Given the description of an element on the screen output the (x, y) to click on. 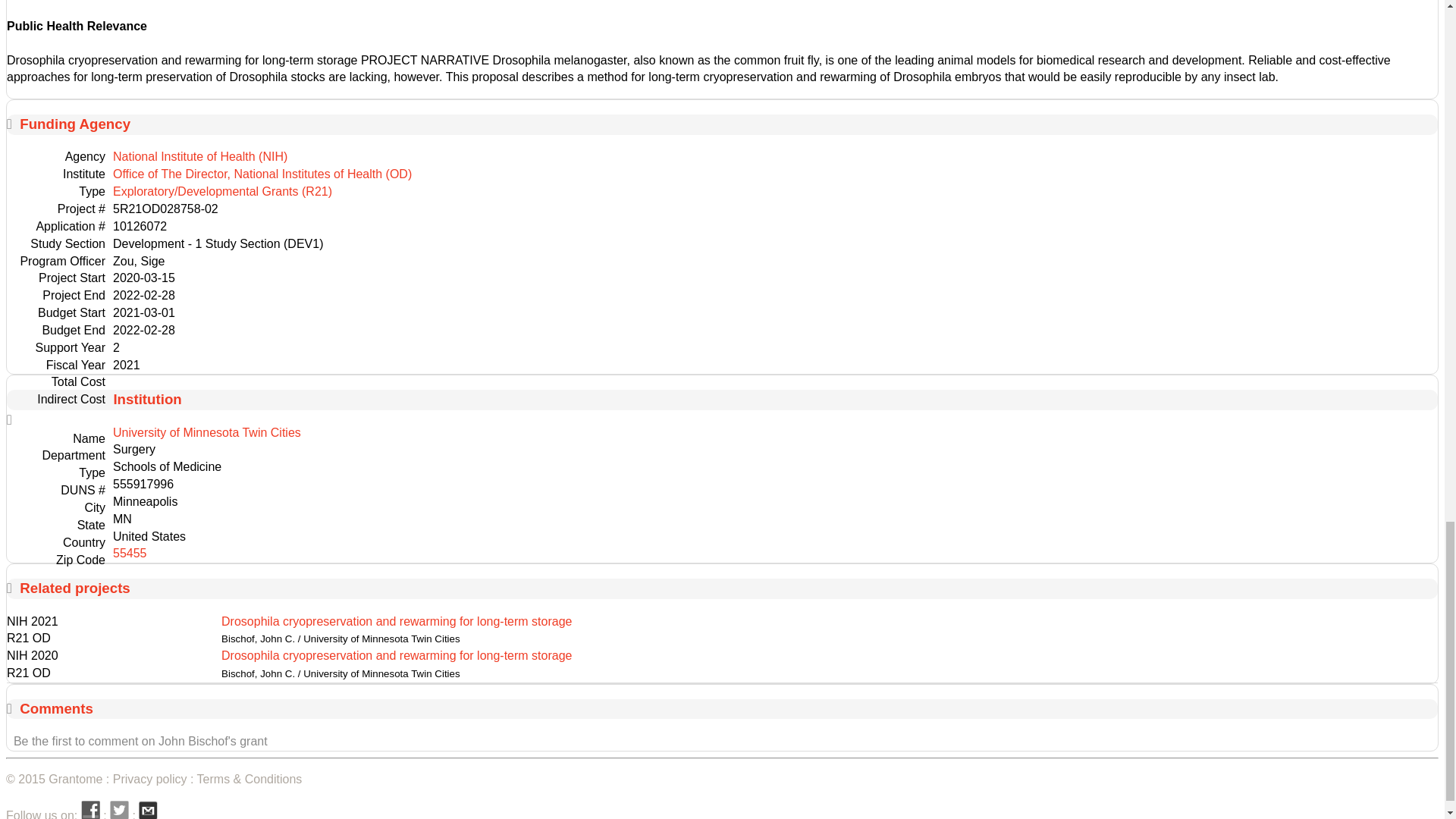
Funding Agency (75, 123)
